Given the description of an element on the screen output the (x, y) to click on. 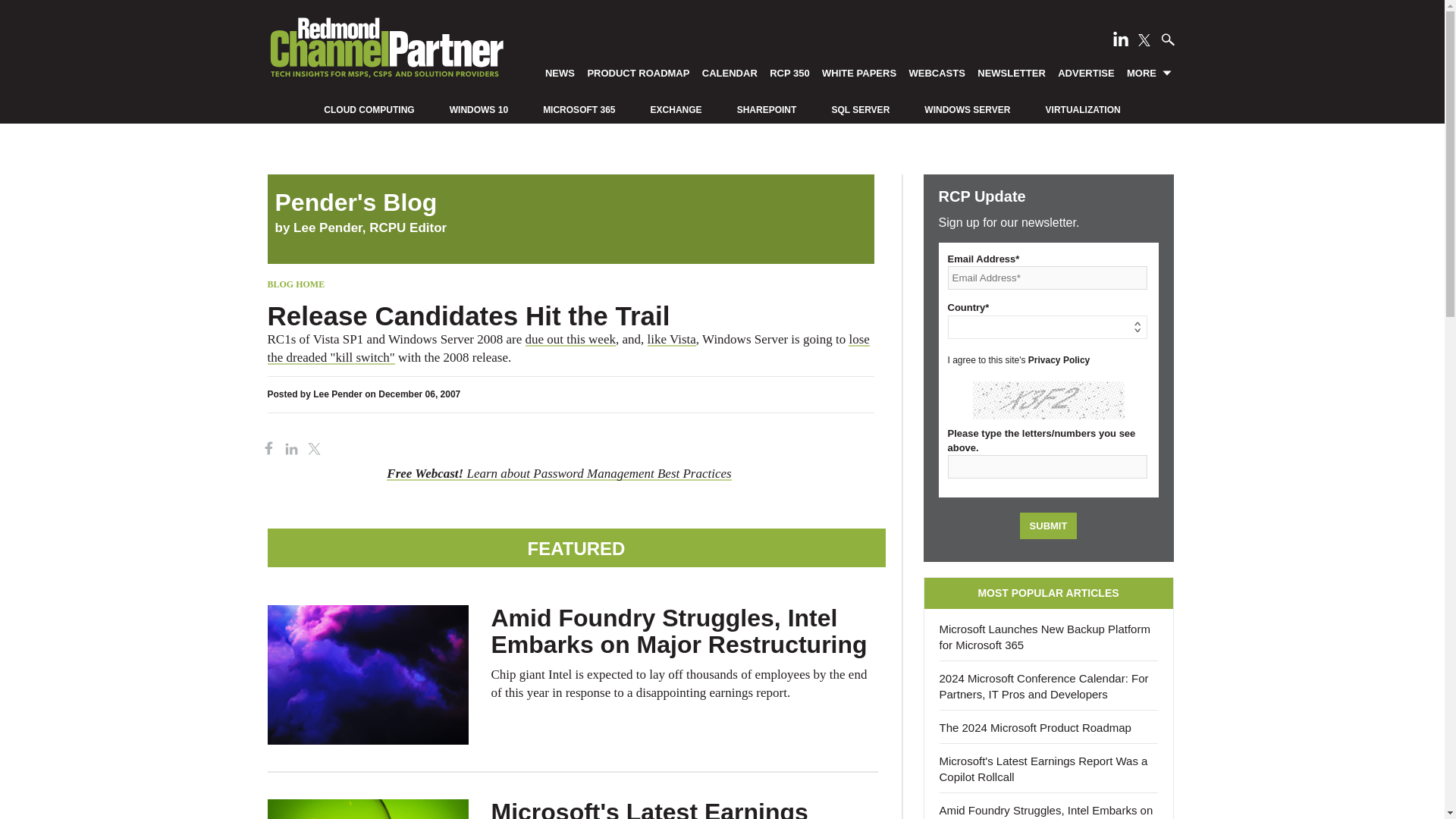
VIRTUALIZATION (1083, 109)
RCP 350 (790, 72)
NEWSLETTER (1011, 72)
lose the dreaded "kill switch" (567, 348)
SHAREPOINT (766, 109)
EXCHANGE (675, 109)
NEWS (559, 72)
WHITE PAPERS (858, 72)
SQL SERVER (860, 109)
like Vista (671, 339)
